Given the description of an element on the screen output the (x, y) to click on. 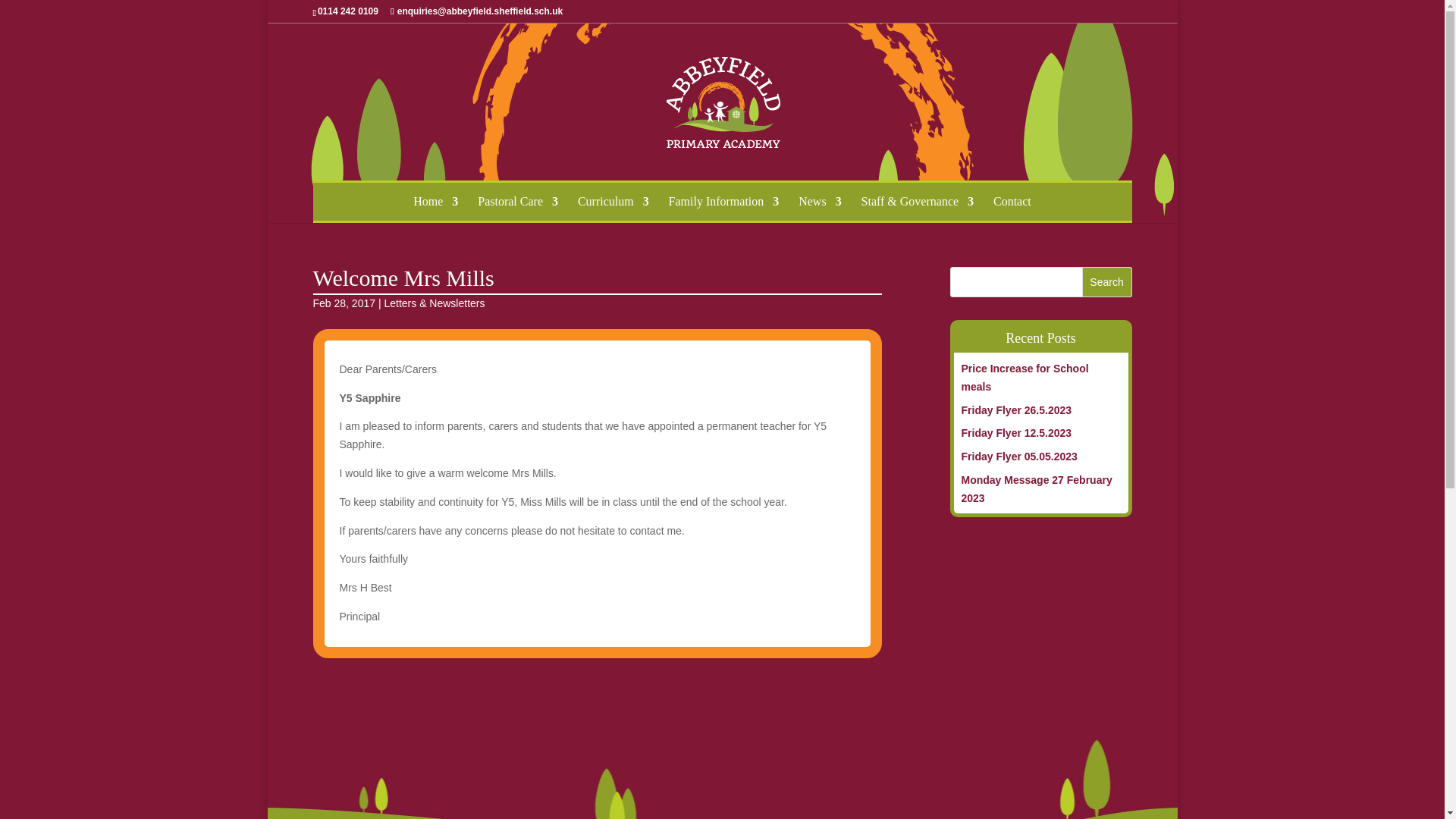
Home (435, 201)
Pastoral Care (517, 201)
Family Information (723, 201)
Search (1106, 281)
Curriculum (613, 201)
